Given the description of an element on the screen output the (x, y) to click on. 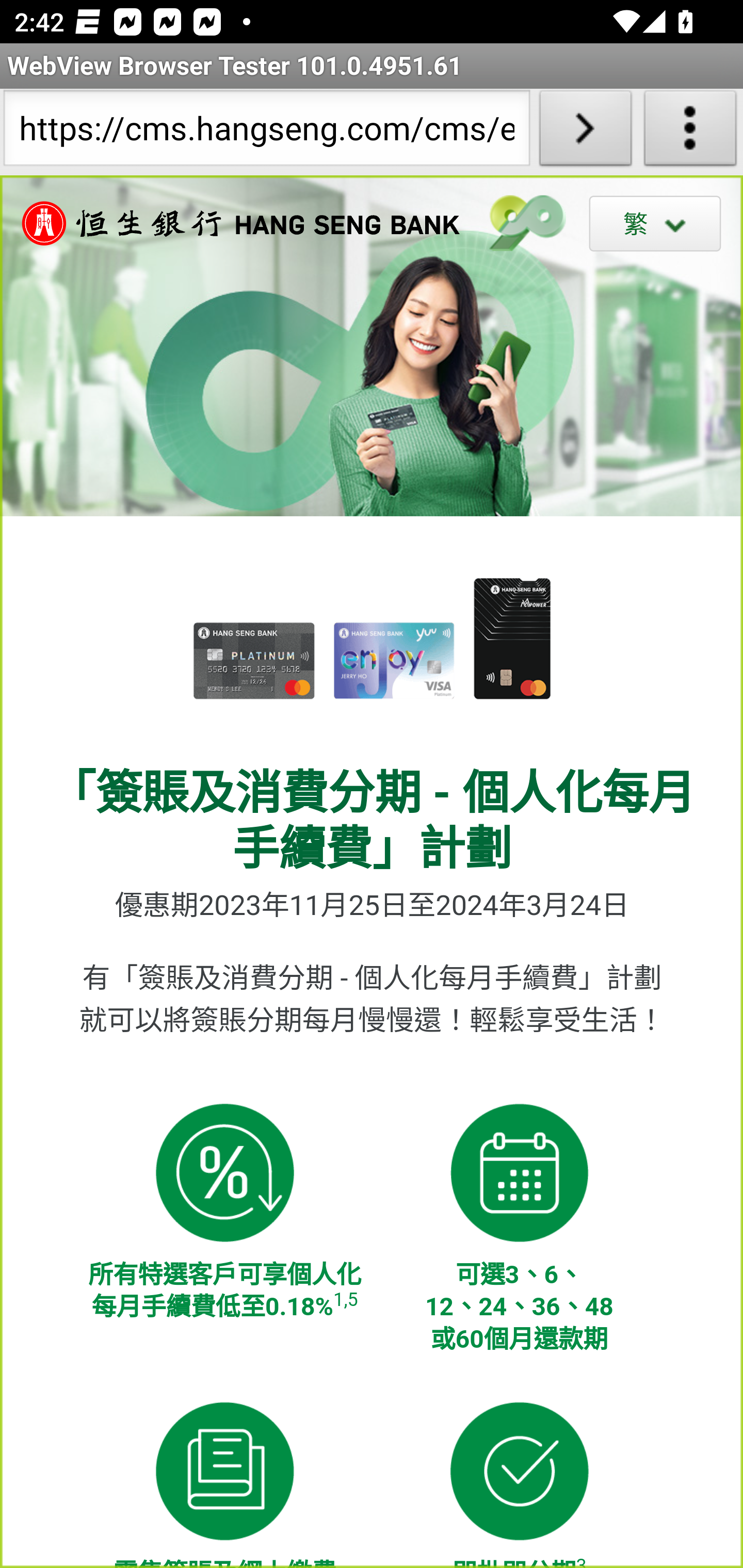
Load URL (585, 132)
About WebView (690, 132)
恒生銀行 Hang Sang Bank (231, 223)
繁 繁    (655, 223)
